Given the description of an element on the screen output the (x, y) to click on. 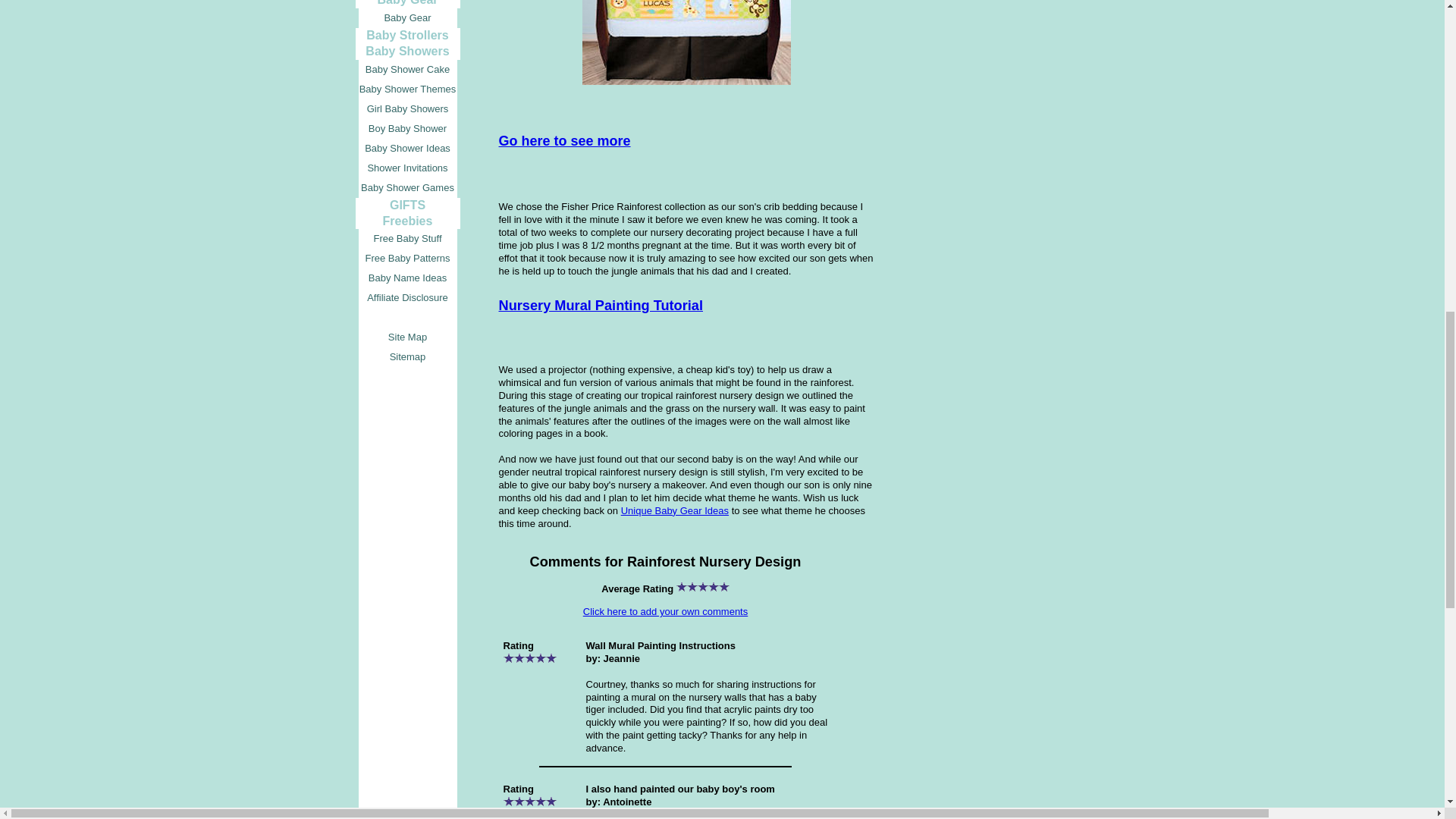
Boy Baby Shower (407, 128)
Girl Baby Showers (407, 108)
Baby Shower Ideas (407, 148)
Baby Shower Games Ideas (407, 188)
Click here to add your own comments (665, 611)
Free Baby Stuff (407, 238)
Go here to see more (564, 140)
Shower Invitations (407, 168)
Unique Baby Gear Ideas (675, 510)
Nursery Mural Painting Tutorial (601, 305)
Baby Shower Cake Ideas (407, 69)
Baby Gear (407, 17)
Baby Shower Themes (407, 89)
